Given the description of an element on the screen output the (x, y) to click on. 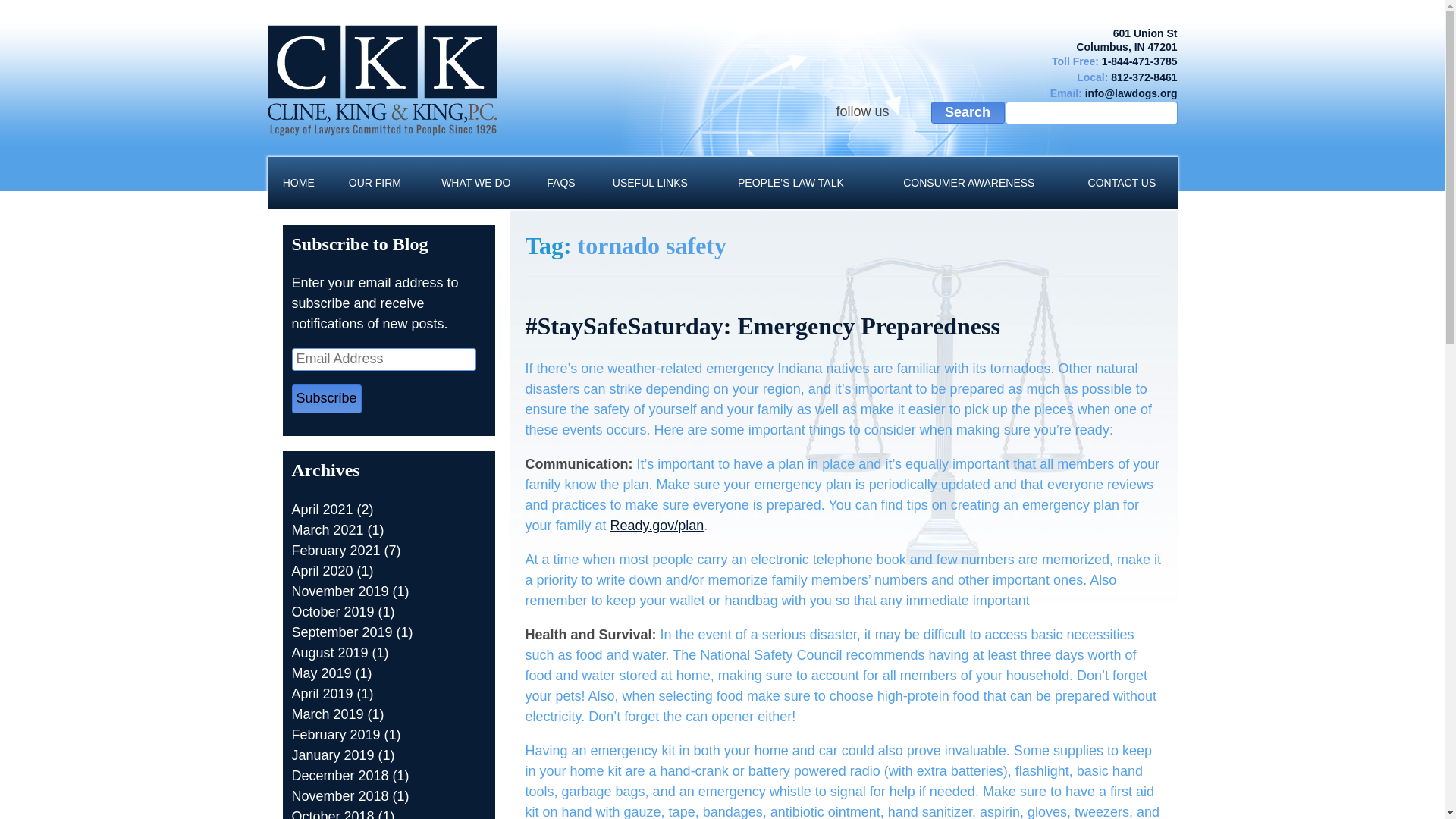
April 2021 (321, 509)
February 2021 (335, 549)
November 2018 (339, 795)
OUR FIRM (375, 183)
CONSUMER AWARENESS (967, 183)
August 2019 (329, 652)
Search (967, 112)
Search (967, 112)
May 2019 (320, 672)
WHAT WE DO (476, 183)
April 2019 (321, 693)
November 2019 (339, 590)
September 2019 (341, 631)
March 2021 (326, 529)
October 2019 (332, 611)
